Given the description of an element on the screen output the (x, y) to click on. 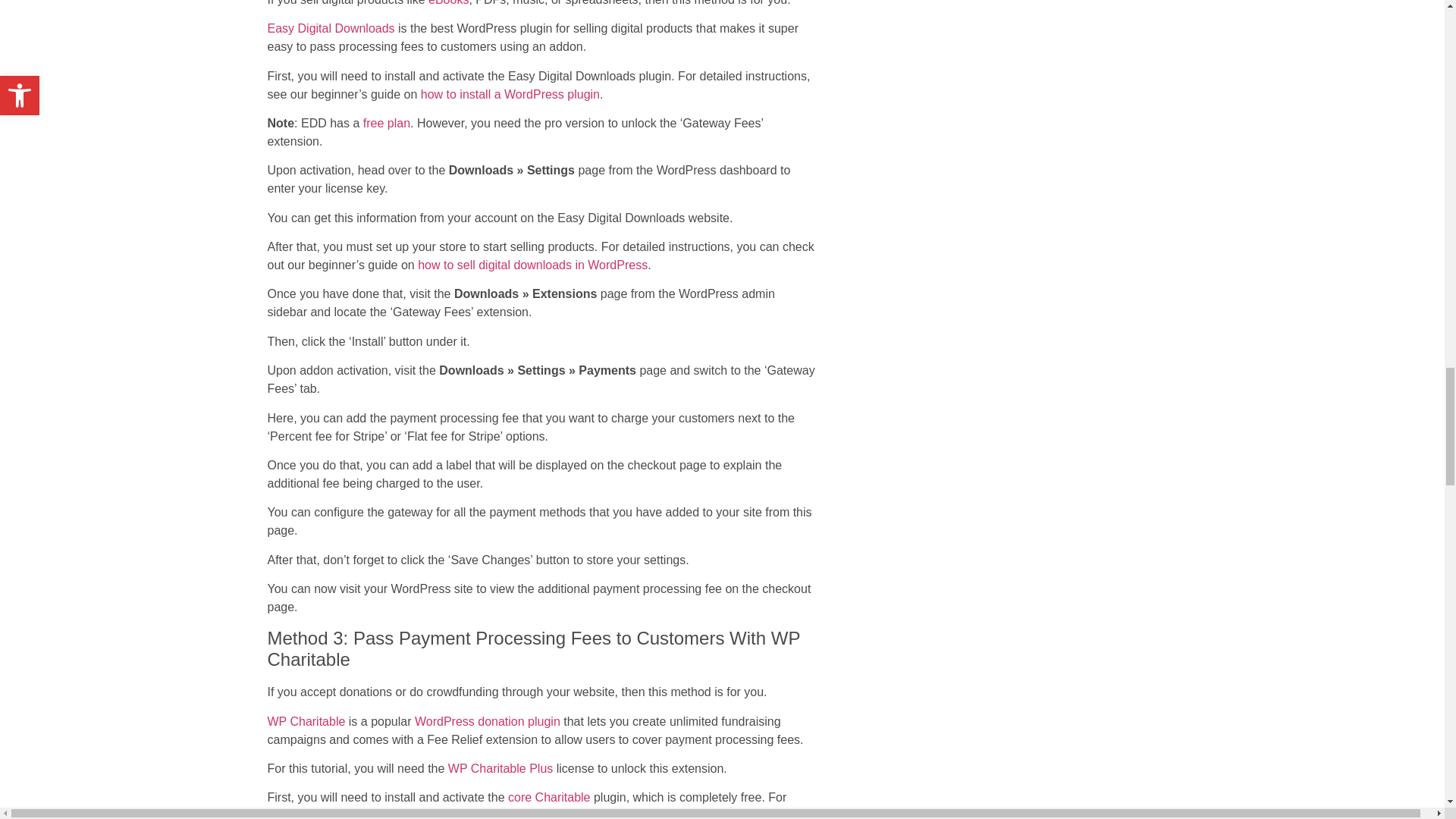
free plan (386, 123)
Easy Digital Downloads (330, 28)
how to install a WordPress plugin (509, 93)
eBooks (448, 2)
Easy Digital Downloads - Free WordPress Ecommerce Plugin (386, 123)
Easy Digital Downloads - WordPress eCommerce plugin (330, 28)
